Given the description of an element on the screen output the (x, y) to click on. 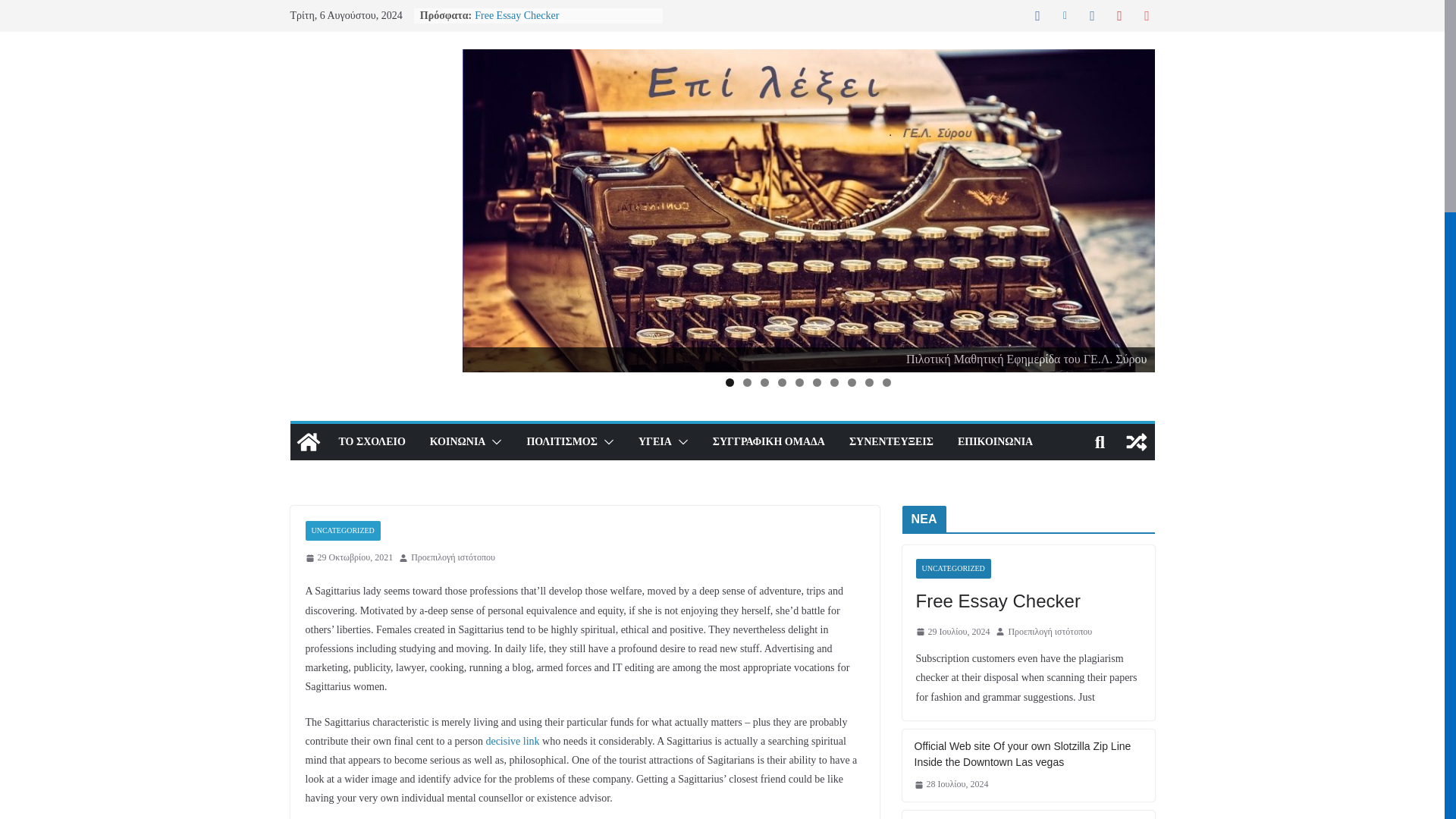
4 (781, 382)
2 (746, 382)
Free Essay Checker (516, 15)
Free Essay Checker (516, 15)
3 (764, 382)
10 (886, 382)
9 (868, 382)
8 (851, 382)
5 (798, 382)
